Given the description of an element on the screen output the (x, y) to click on. 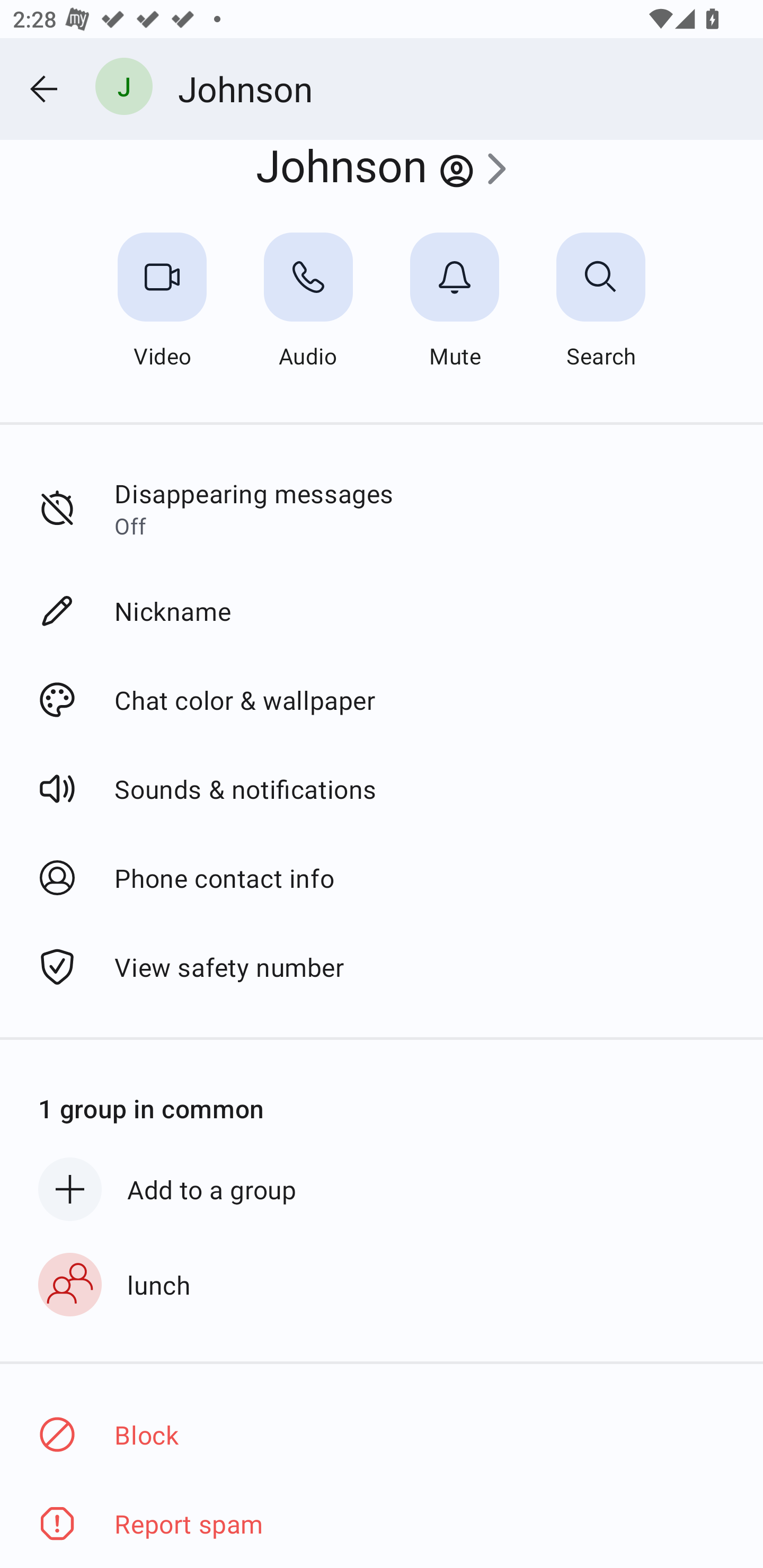
Block (381, 1433)
